Given the description of an element on the screen output the (x, y) to click on. 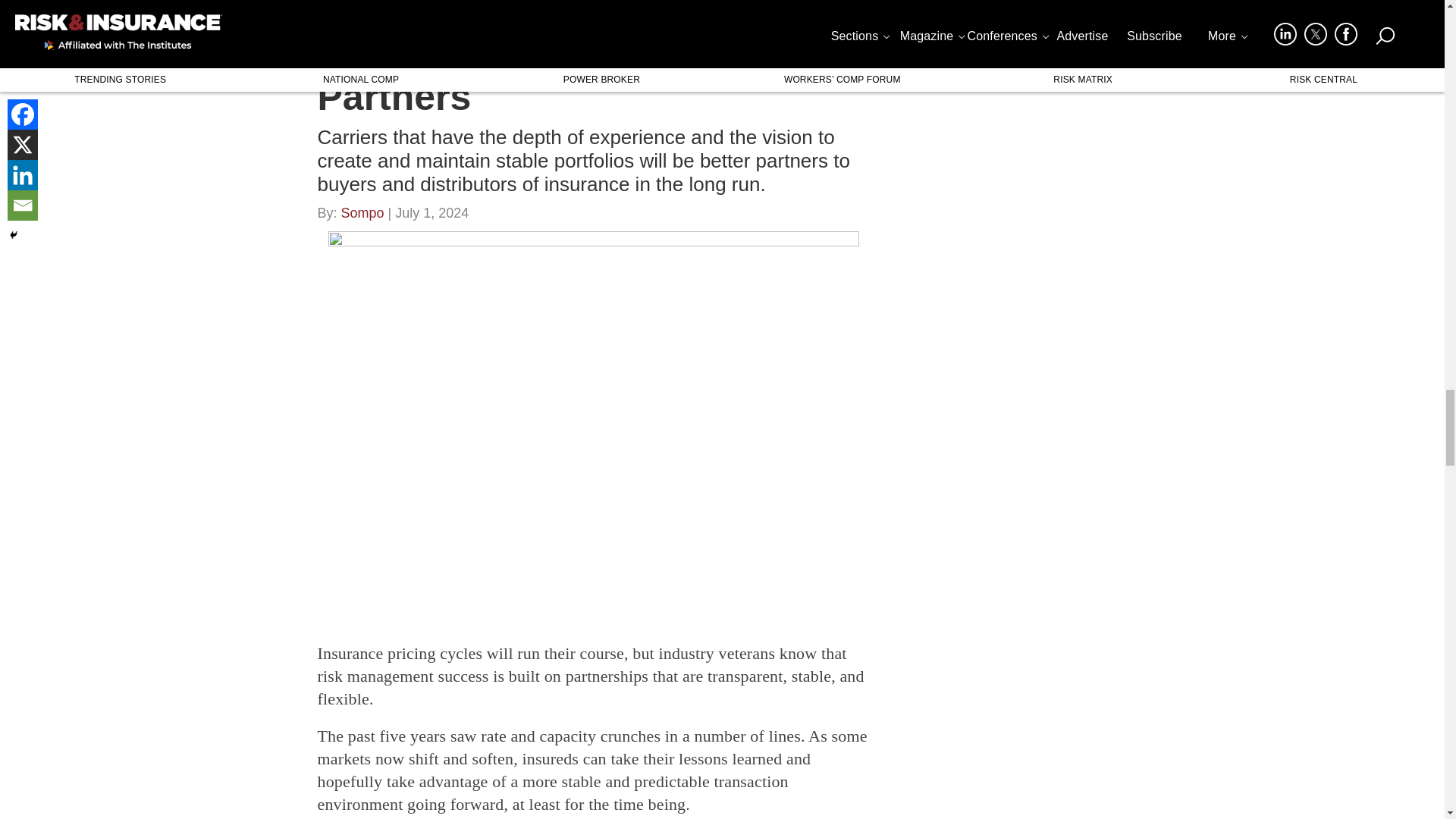
Posts by Sompo (362, 216)
